Given the description of an element on the screen output the (x, y) to click on. 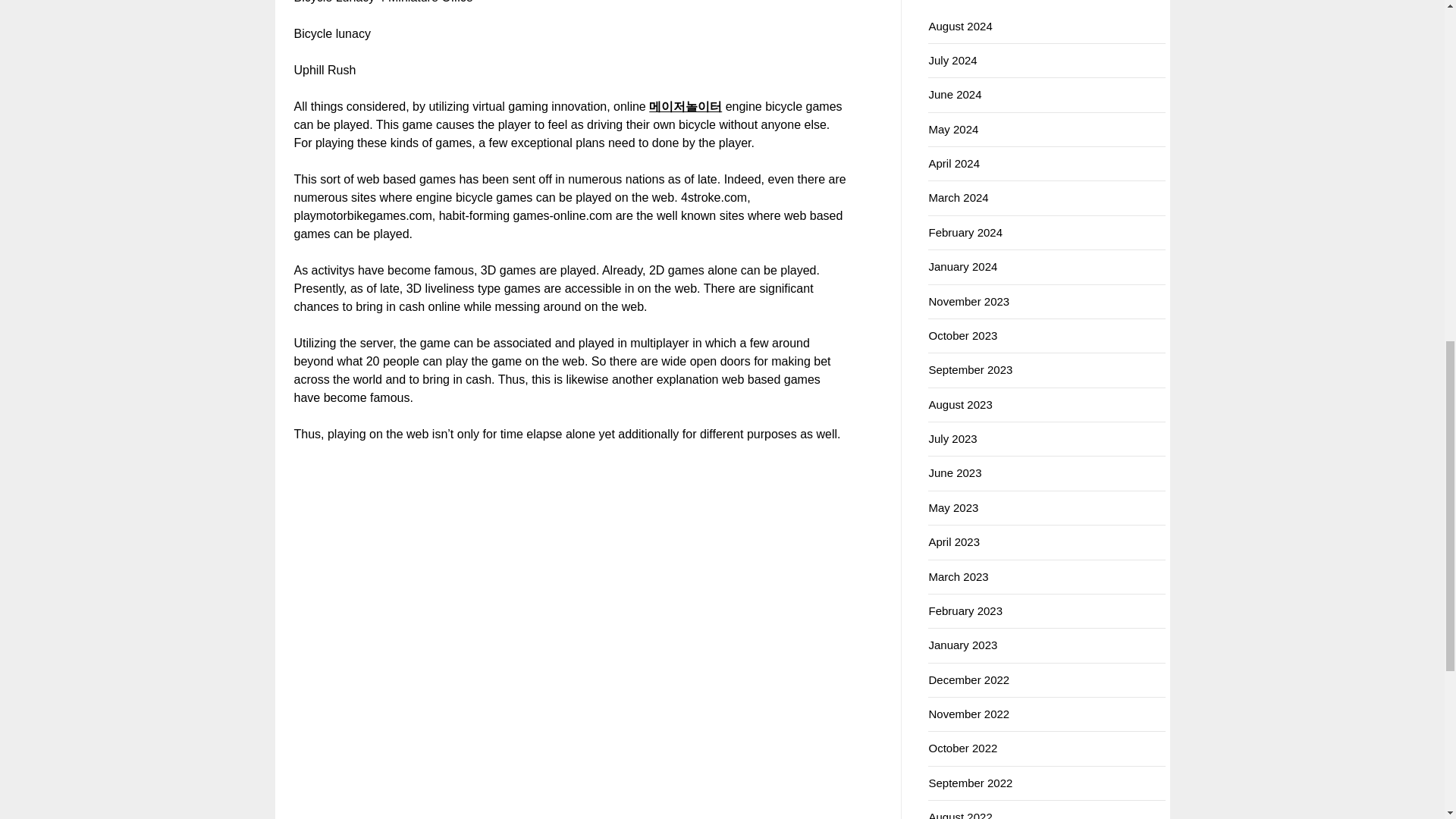
February 2024 (965, 232)
December 2022 (968, 679)
July 2024 (952, 60)
August 2023 (959, 404)
June 2023 (954, 472)
October 2022 (962, 748)
March 2024 (958, 196)
February 2023 (965, 610)
September 2022 (969, 782)
January 2023 (962, 644)
